Given the description of an element on the screen output the (x, y) to click on. 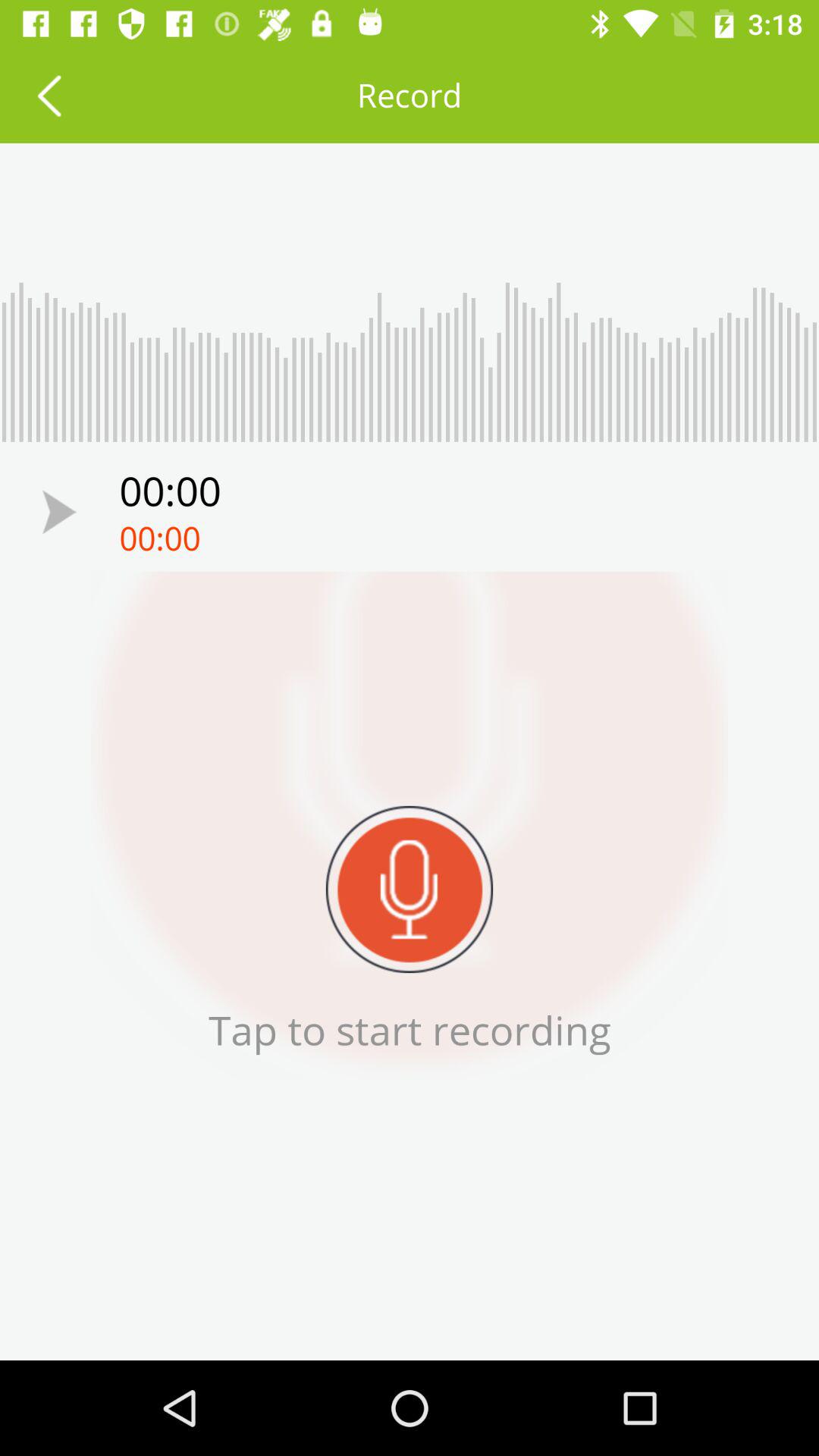
open icon above the tap to start icon (59, 511)
